Given the description of an element on the screen output the (x, y) to click on. 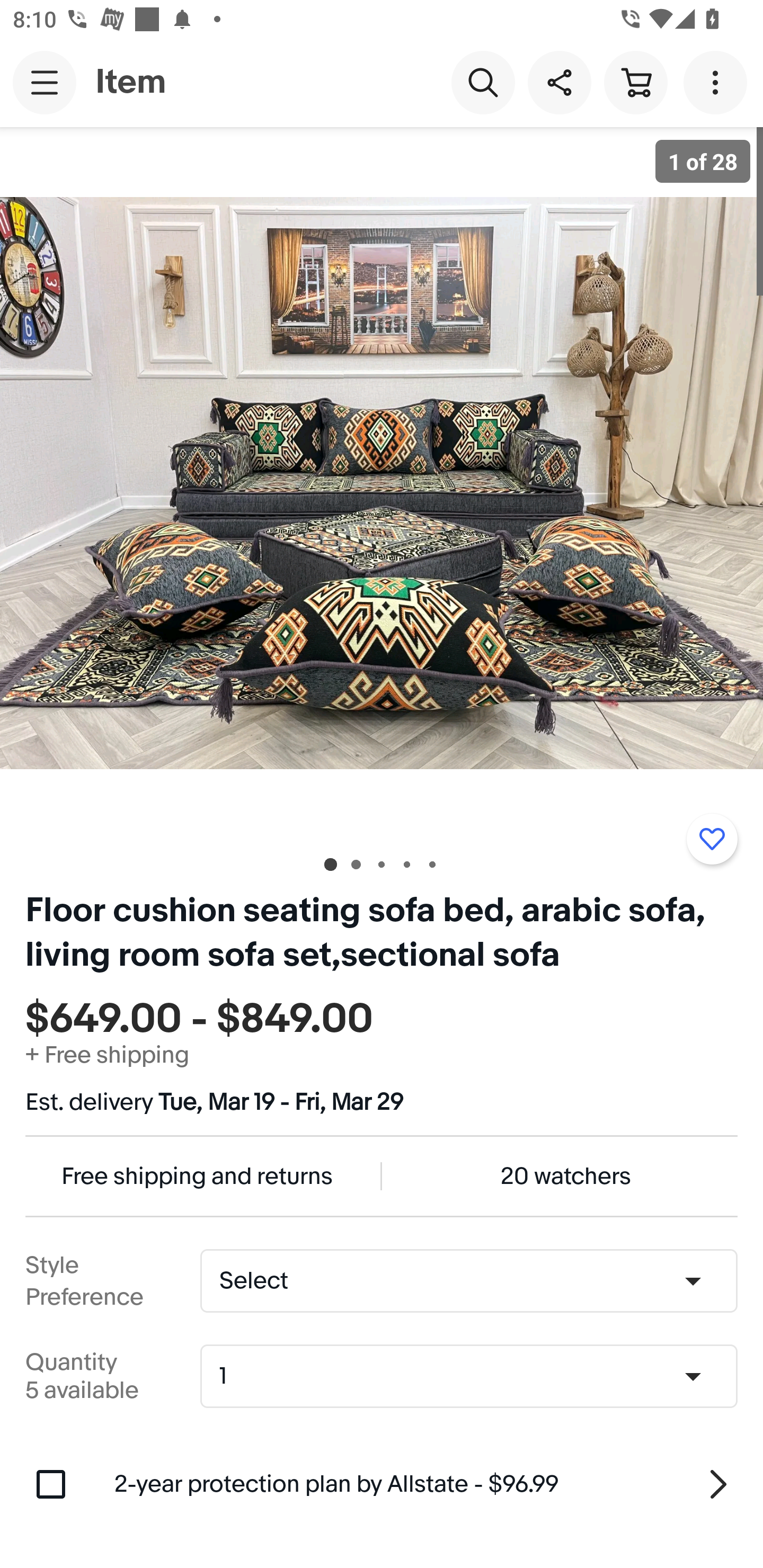
Main navigation, open (44, 82)
Search (482, 81)
Share this item (559, 81)
Cart button shopping cart (635, 81)
More options (718, 81)
Item image 1 of 28 (381, 482)
Add to watchlist (711, 838)
Style Preference,No selection Select (468, 1280)
Quantity,1,5 available 1 (474, 1376)
2-year protection plan by Allstate - $96.99 (425, 1483)
